Given the description of an element on the screen output the (x, y) to click on. 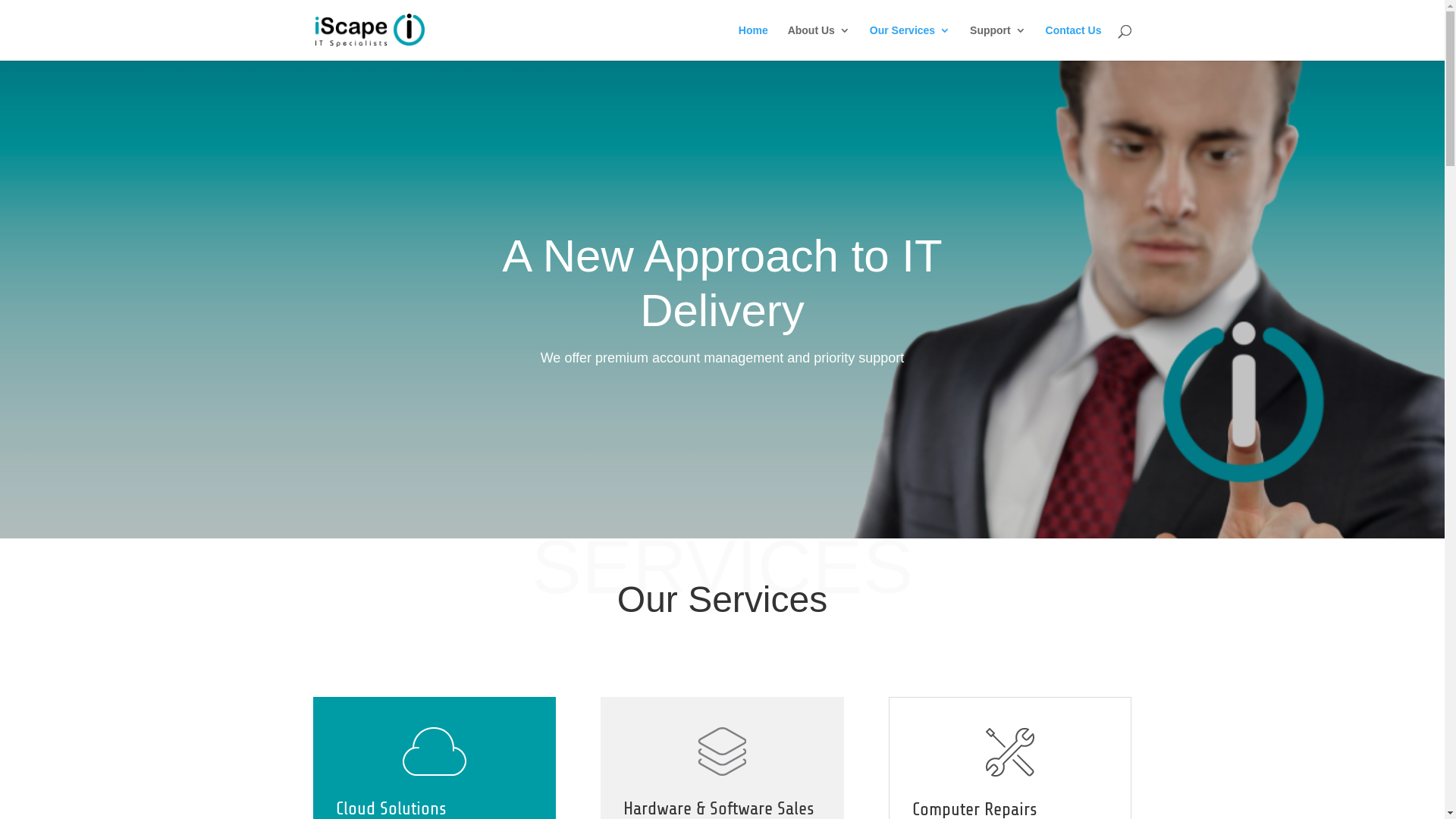
Our Services Element type: text (909, 42)
About Us Element type: text (818, 42)
Support Element type: text (997, 42)
Home Element type: text (753, 42)
Contact Us Element type: text (1073, 42)
